Given the description of an element on the screen output the (x, y) to click on. 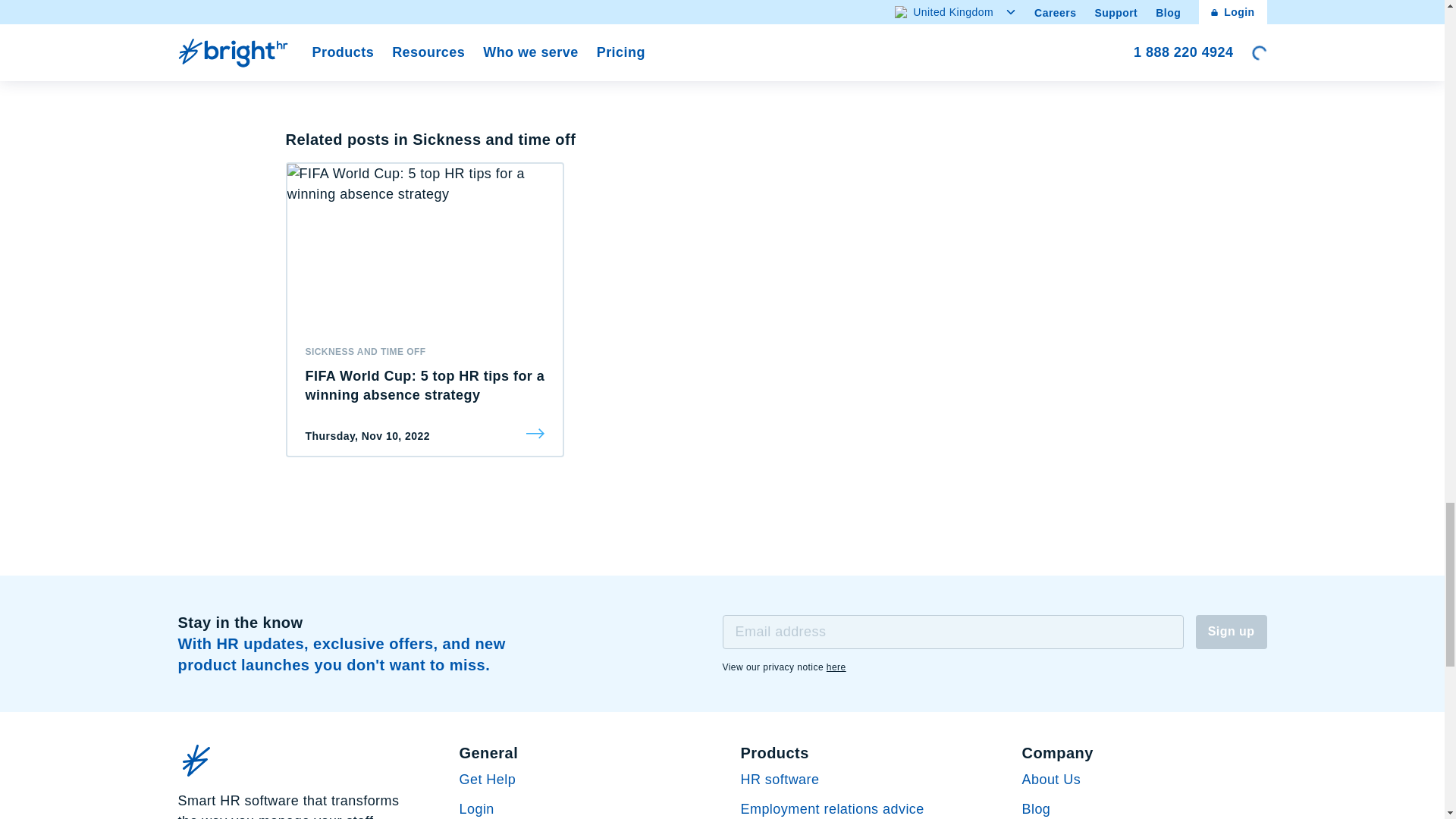
Sign up (1230, 632)
